Given the description of an element on the screen output the (x, y) to click on. 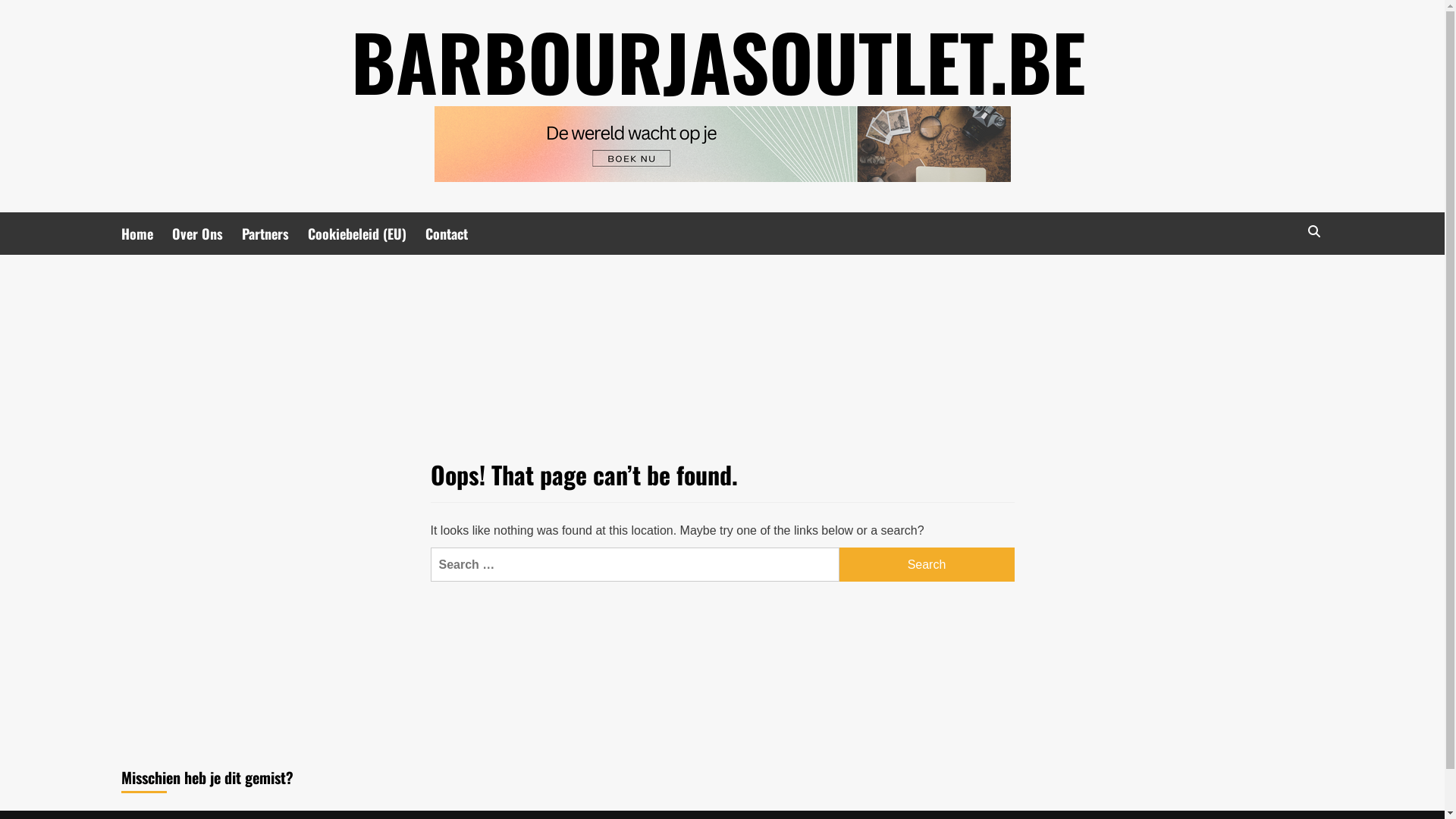
Search Element type: text (1278, 277)
Cookiebeleid (EU) Element type: text (366, 233)
BARBOURJASOUTLET.BE Element type: text (718, 60)
Partners Element type: text (274, 233)
Home Element type: text (146, 233)
Over Ons Element type: text (206, 233)
Search Element type: hover (1313, 231)
Search Element type: text (925, 564)
Contact Element type: text (455, 233)
